Given the description of an element on the screen output the (x, y) to click on. 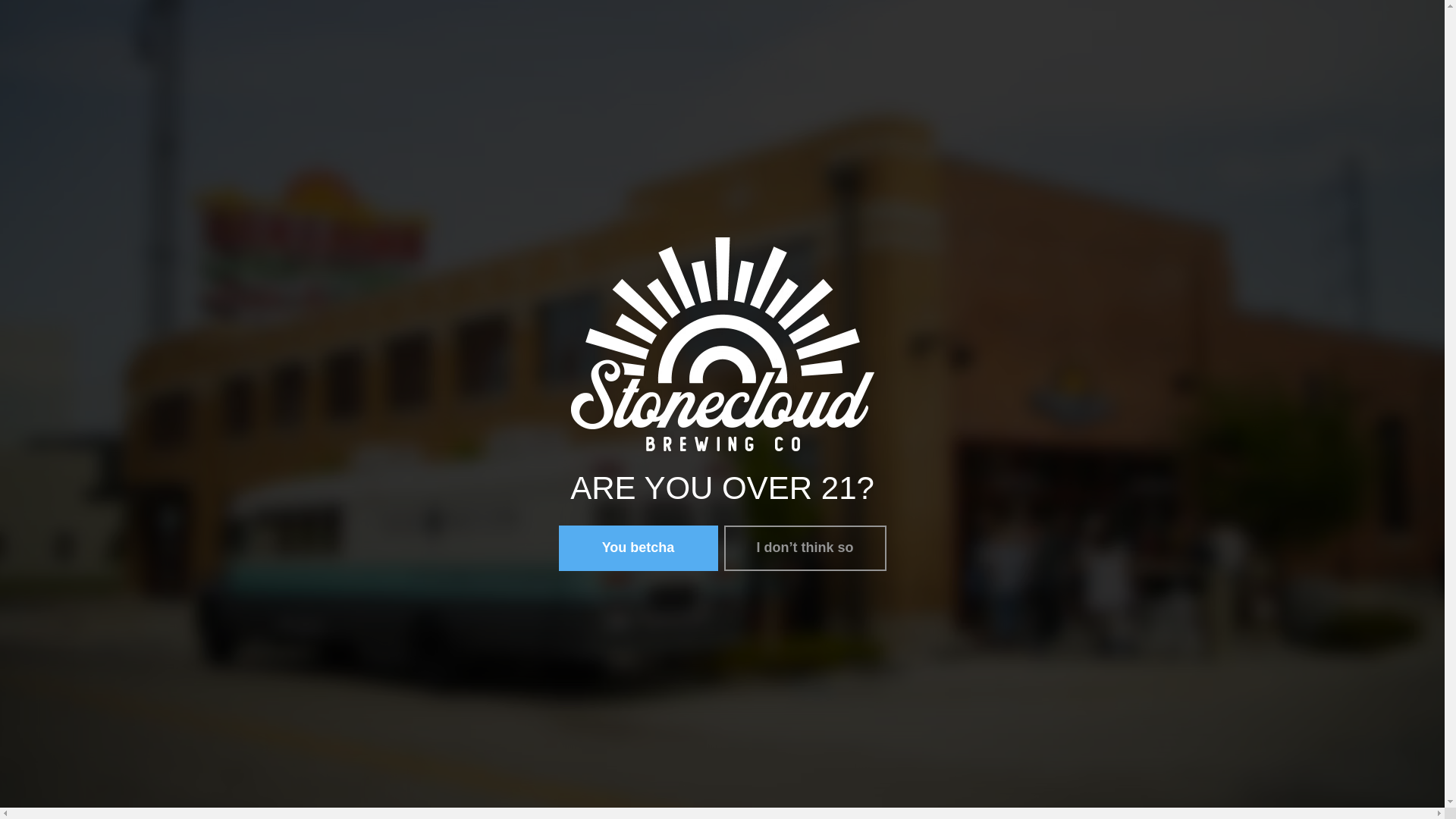
Back to all beers (631, 68)
Order Beer Online (642, 22)
Find Our Beer (804, 22)
